Given the description of an element on the screen output the (x, y) to click on. 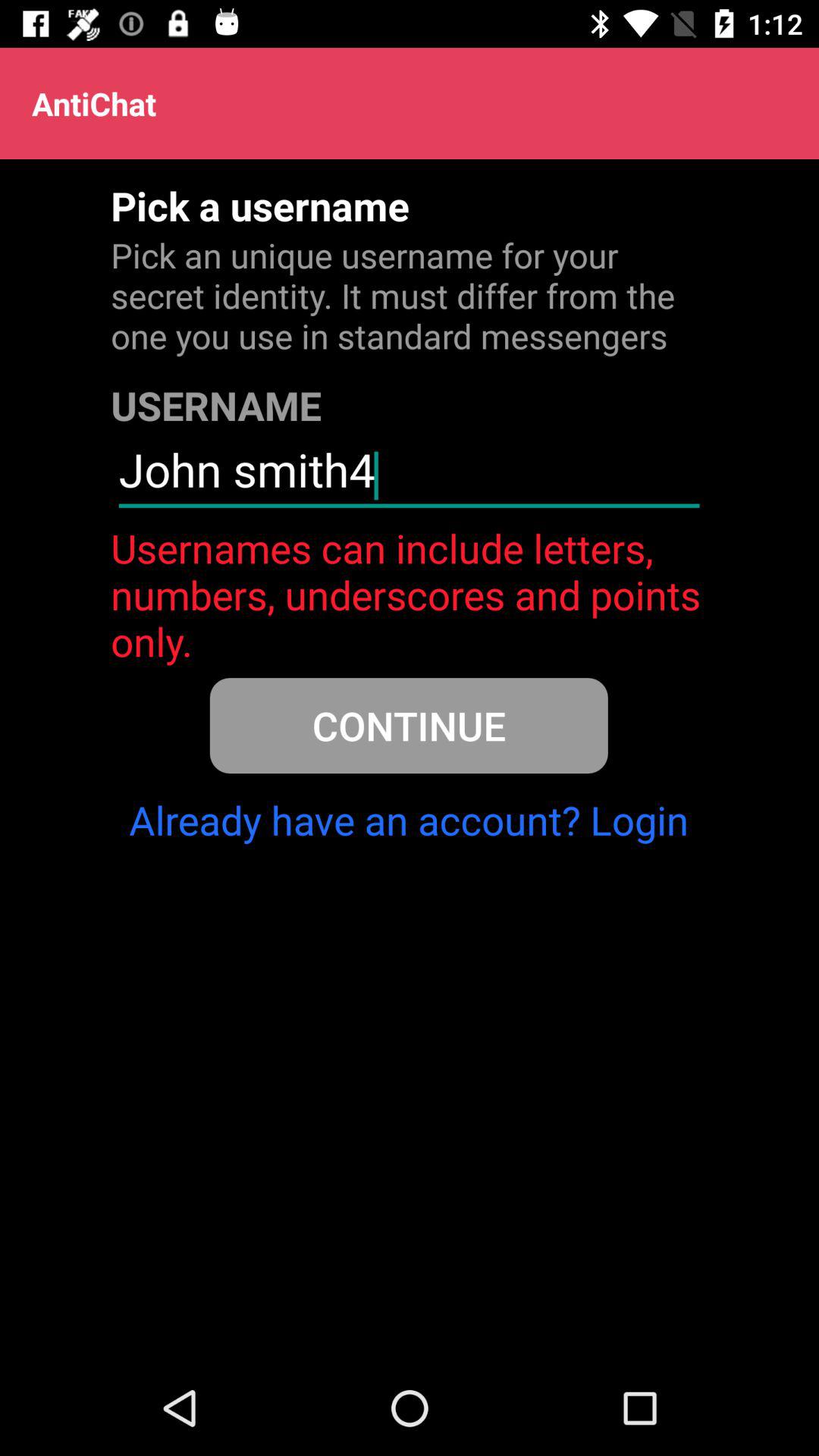
select the john smith4 icon (408, 476)
